Given the description of an element on the screen output the (x, y) to click on. 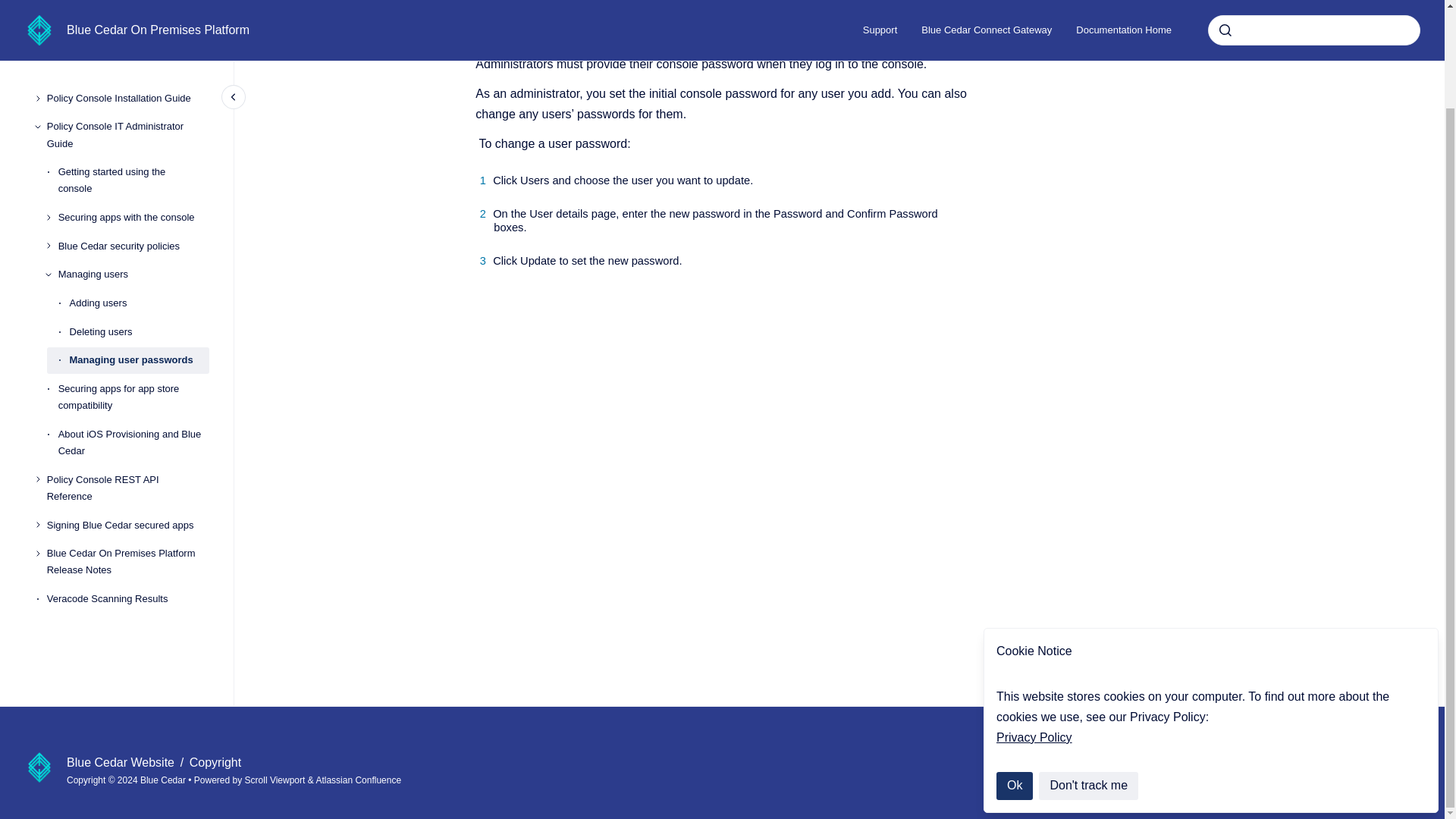
Signing Blue Cedar secured apps (127, 411)
Securing apps with the console (133, 103)
Securing apps for app store compatibility (133, 284)
Getting started using the console (133, 67)
Managing user passwords (139, 247)
Privacy Policy (1033, 623)
Policy Console IT Administrator Guide (127, 22)
Don't track me (1088, 672)
Deleting users (139, 218)
Veracode Scanning Results (127, 485)
